Given the description of an element on the screen output the (x, y) to click on. 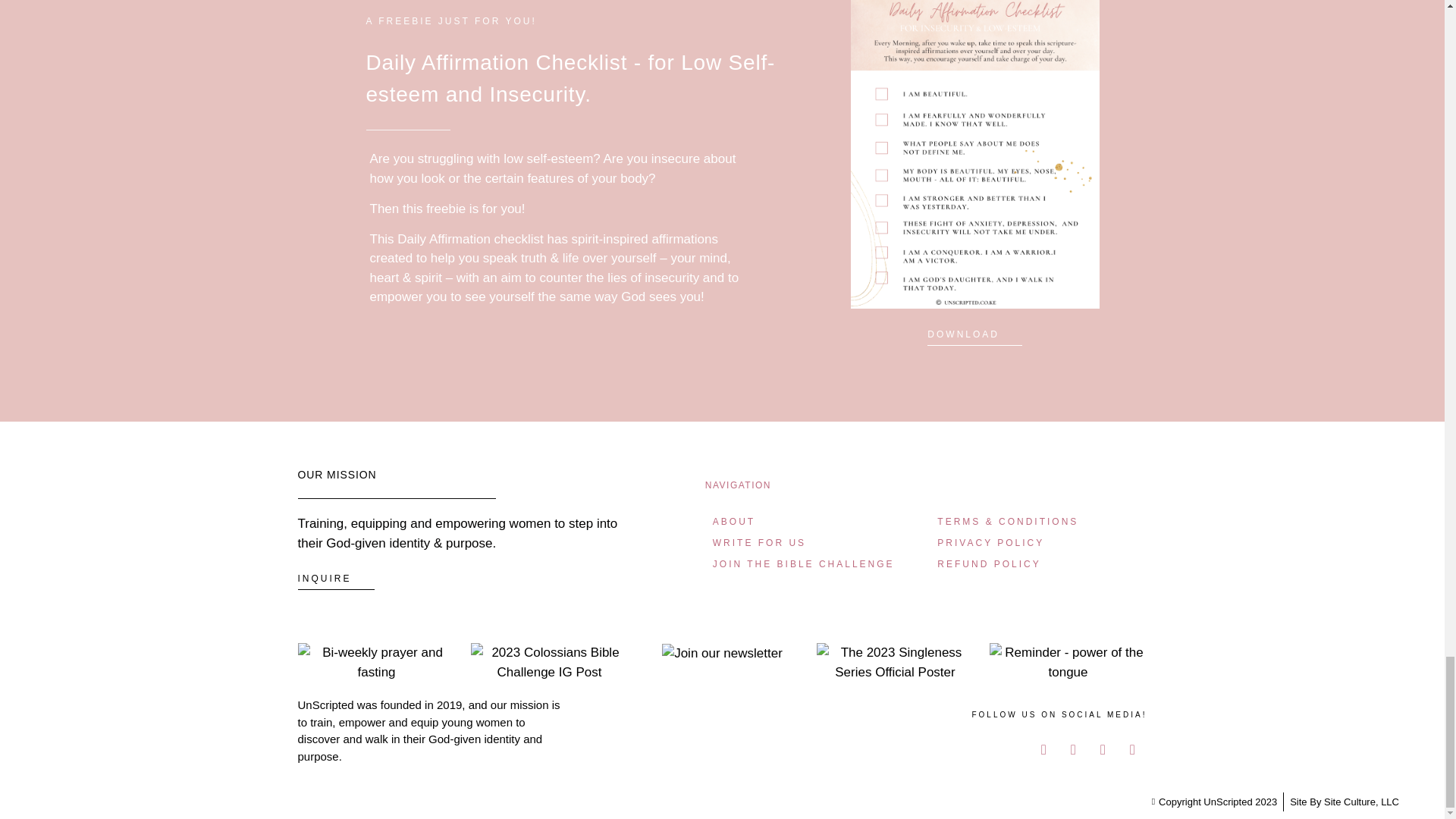
Bi-weekly prayer and fasting (375, 661)
The 2023 Singleness Series Official Poster (894, 661)
2023 Colossians Bible Challenge IG Post (548, 661)
Join our newsletter (722, 653)
